Given the description of an element on the screen output the (x, y) to click on. 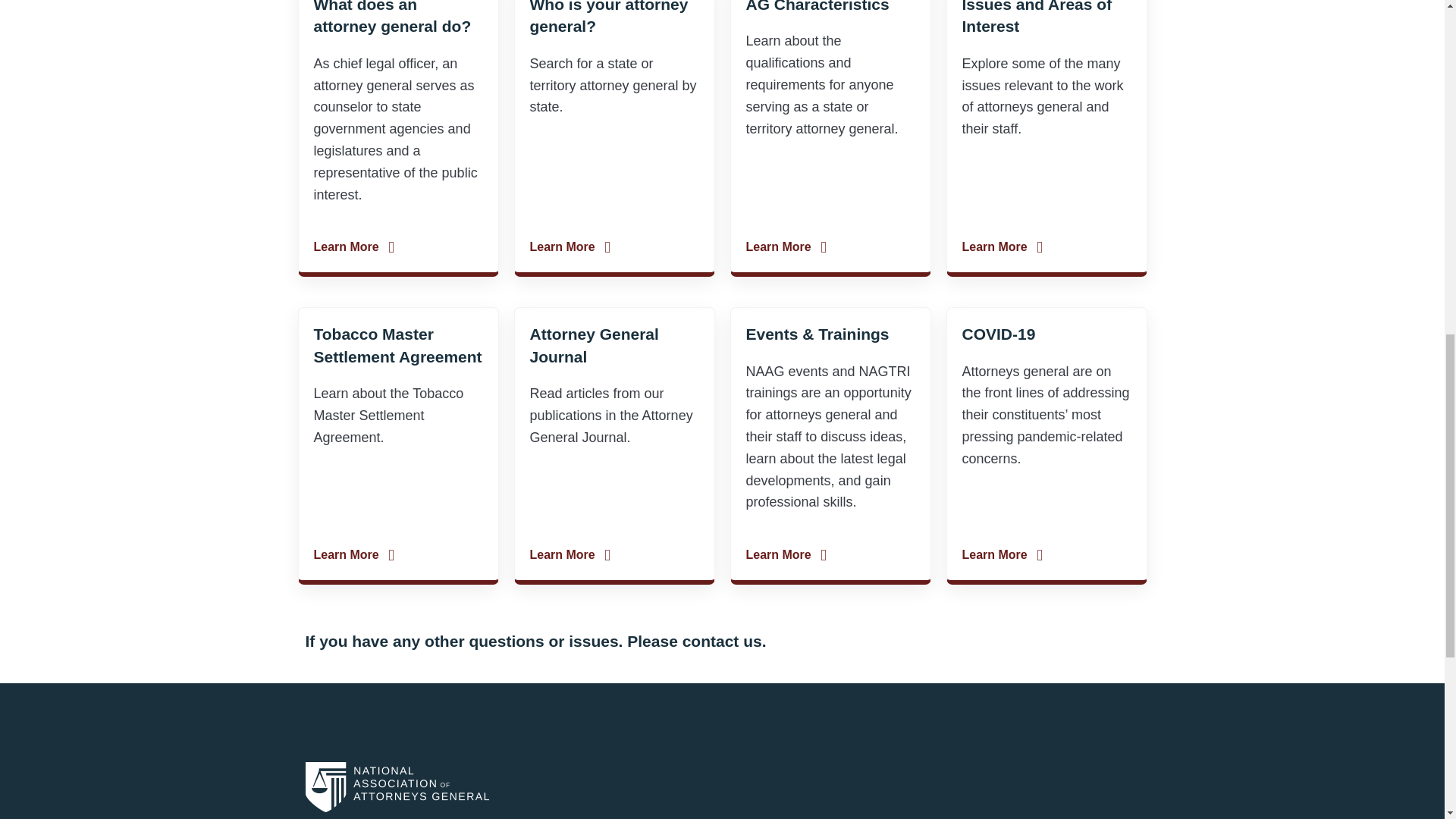
COVID-19 (997, 334)
Attorney General Journal (593, 344)
AG Characteristics (817, 6)
Issues and Areas of Interest (1036, 17)
What does an attorney general do? (392, 17)
Who is your attorney general? (608, 17)
Tobacco Master Settlement Agreement (397, 344)
